Given the description of an element on the screen output the (x, y) to click on. 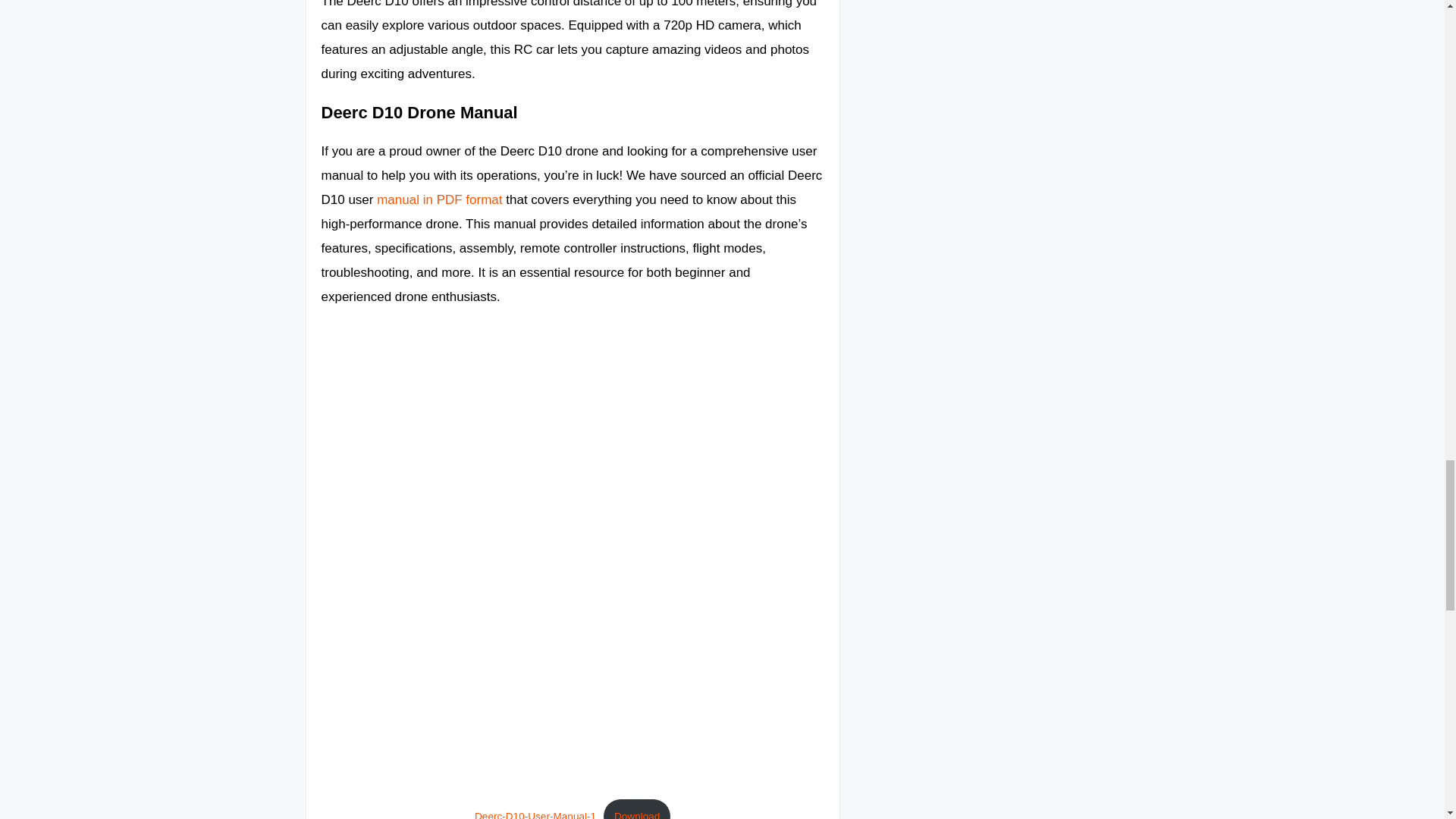
Deerc-D10-User-Manual-1 (534, 814)
Download (636, 809)
manual in PDF format (439, 199)
